Given the description of an element on the screen output the (x, y) to click on. 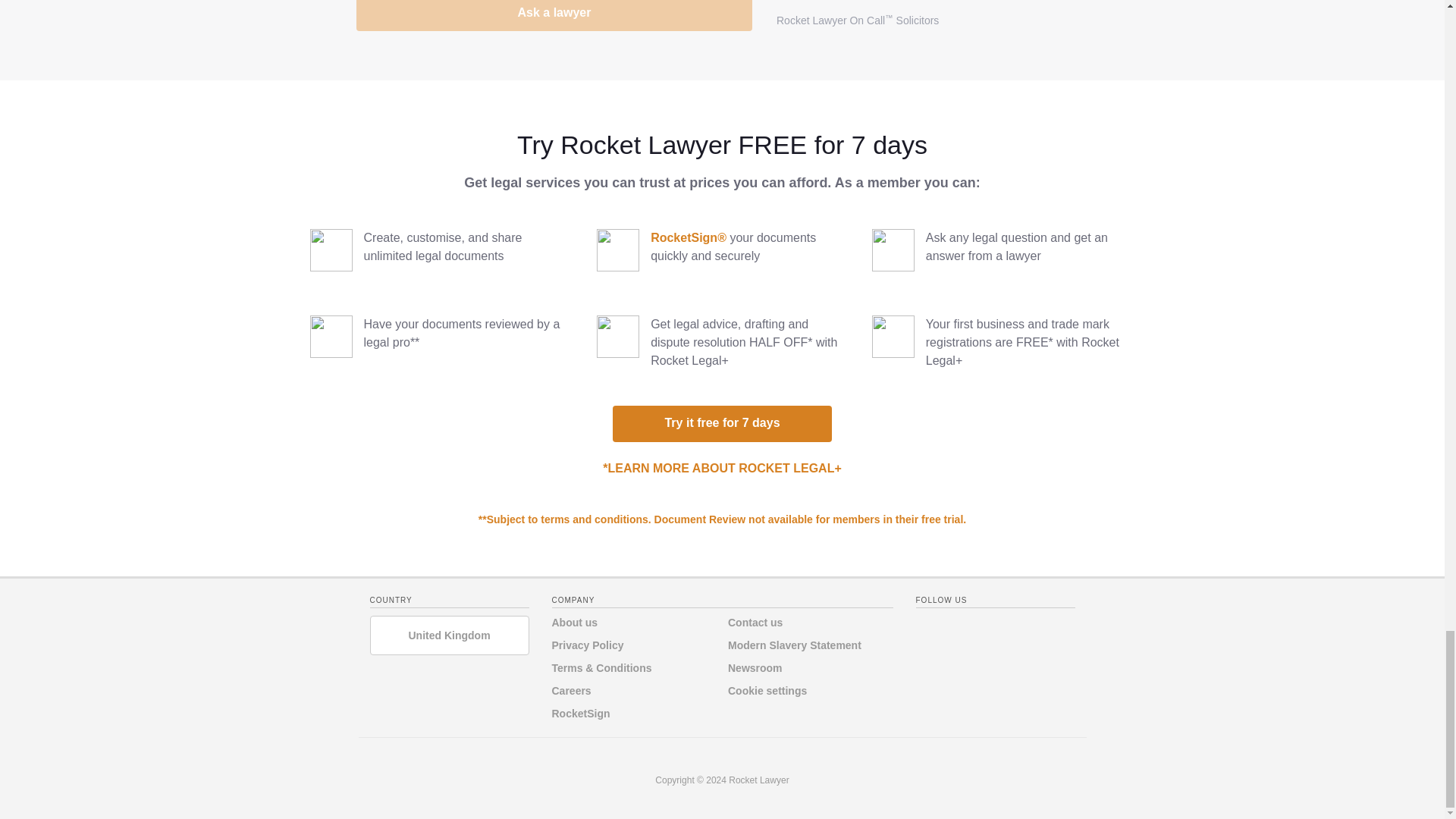
facebook (927, 626)
Ask a lawyer (554, 15)
linkedin (987, 626)
twitter (957, 626)
